Given the description of an element on the screen output the (x, y) to click on. 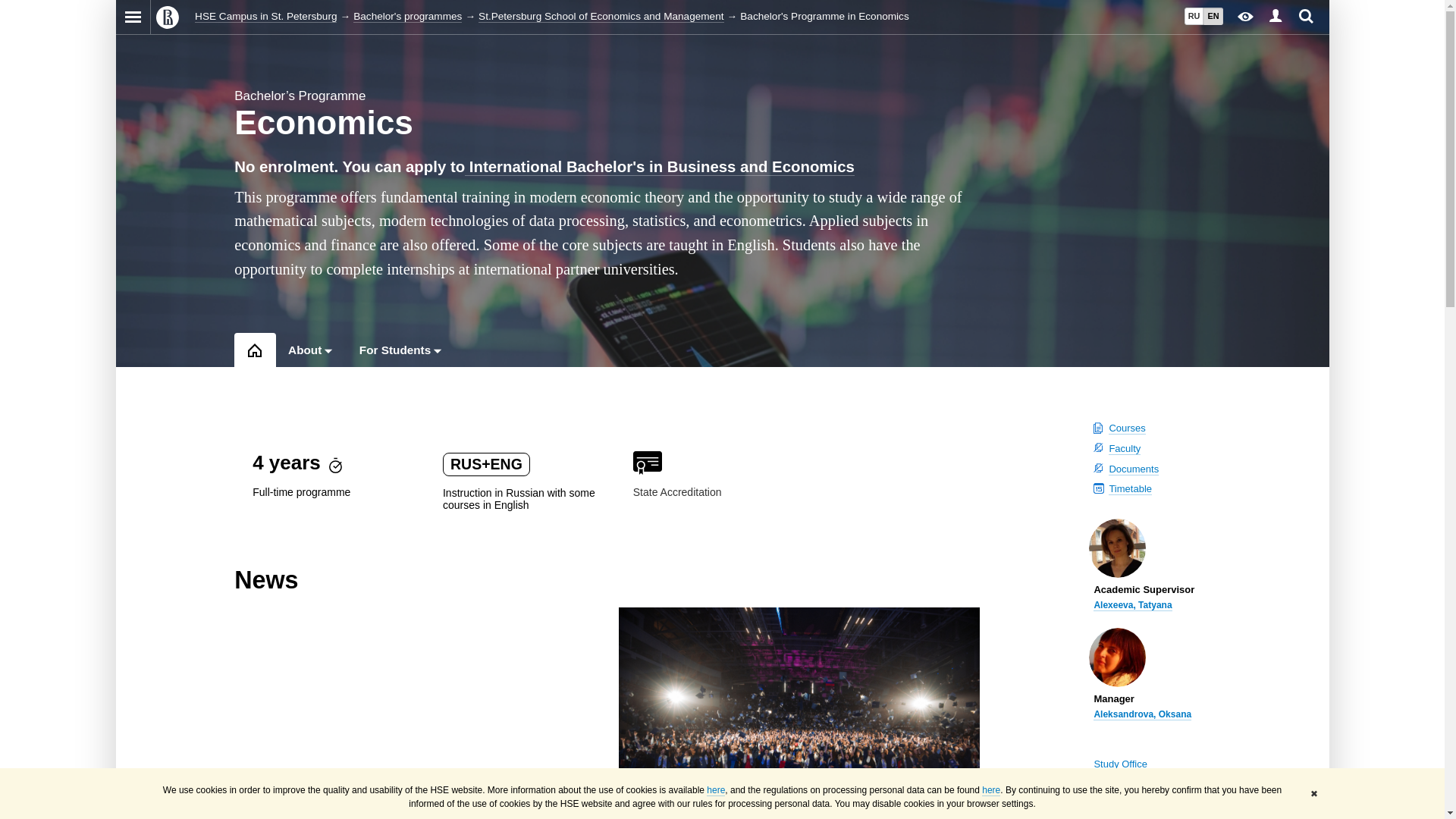
Bachelor's programmes (407, 16)
International Bachelor's in Business and Economics (659, 167)
RU (1194, 16)
Alexeeva, Tatyana (1132, 604)
For Students (394, 349)
here (715, 790)
Faculty (1124, 449)
Courses (1126, 428)
Documents (1133, 468)
here (990, 790)
Timetable (1129, 489)
About (304, 349)
HSE Campus in St. Petersburg (265, 16)
St.Petersburg School of Economics and Management (601, 16)
